Given the description of an element on the screen output the (x, y) to click on. 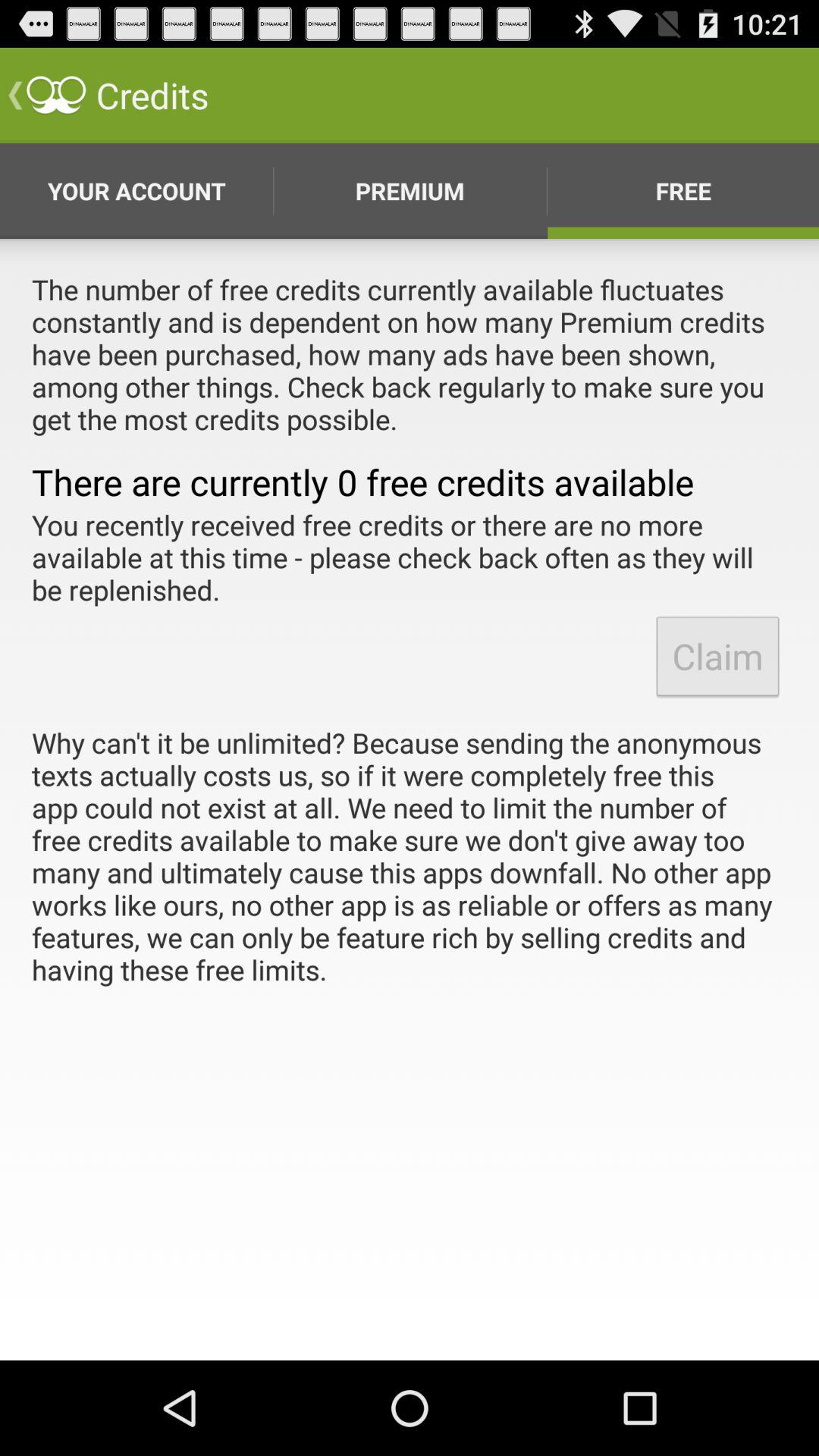
click on claim  button (717, 656)
select the tab your account on the web page (136, 190)
select the logo on left to the text credits on the web page (55, 95)
